Given the description of an element on the screen output the (x, y) to click on. 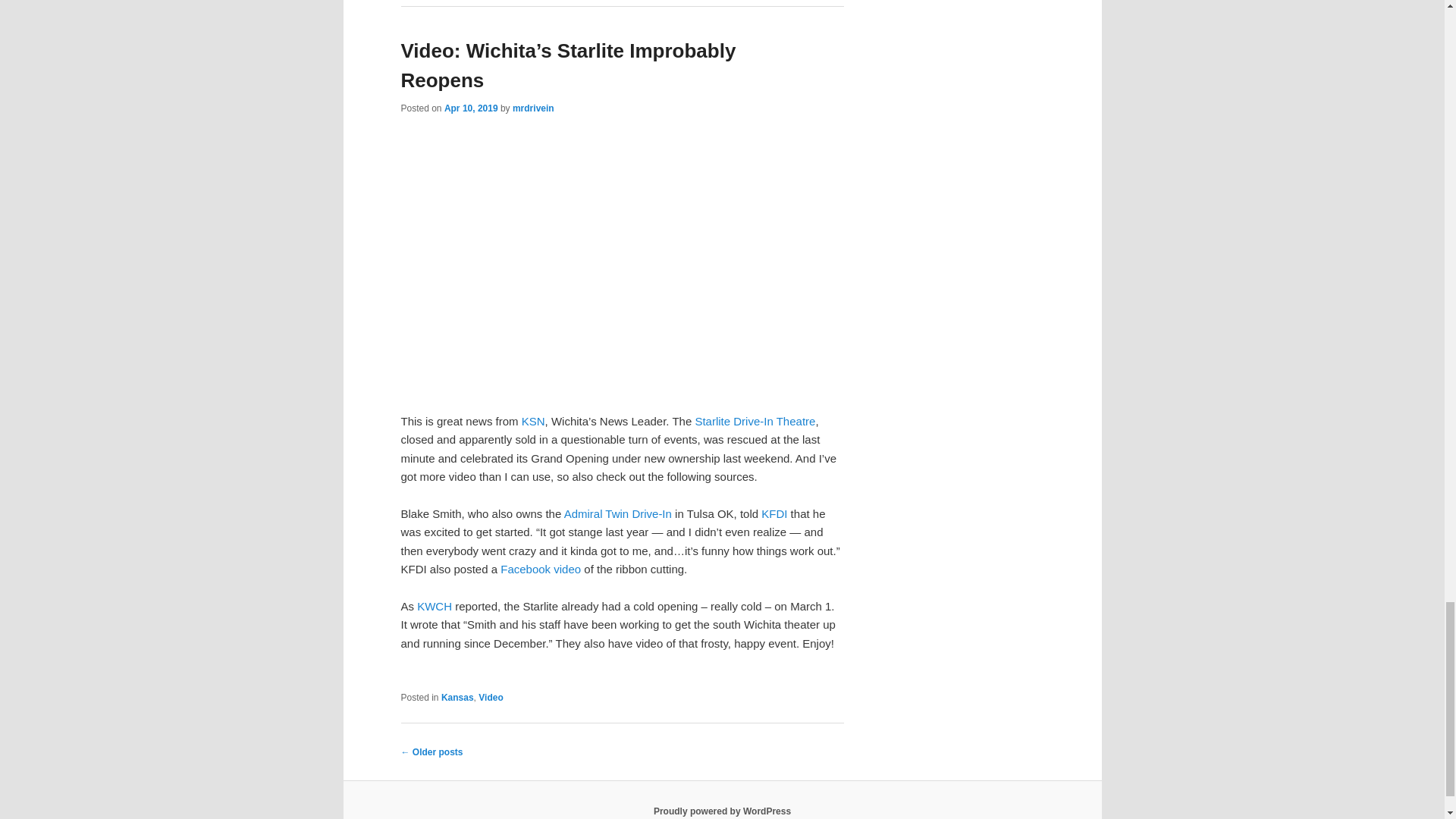
Semantic Personal Publishing Platform (721, 810)
4:14 pm (470, 108)
View all posts by mrdrivein (533, 108)
